Given the description of an element on the screen output the (x, y) to click on. 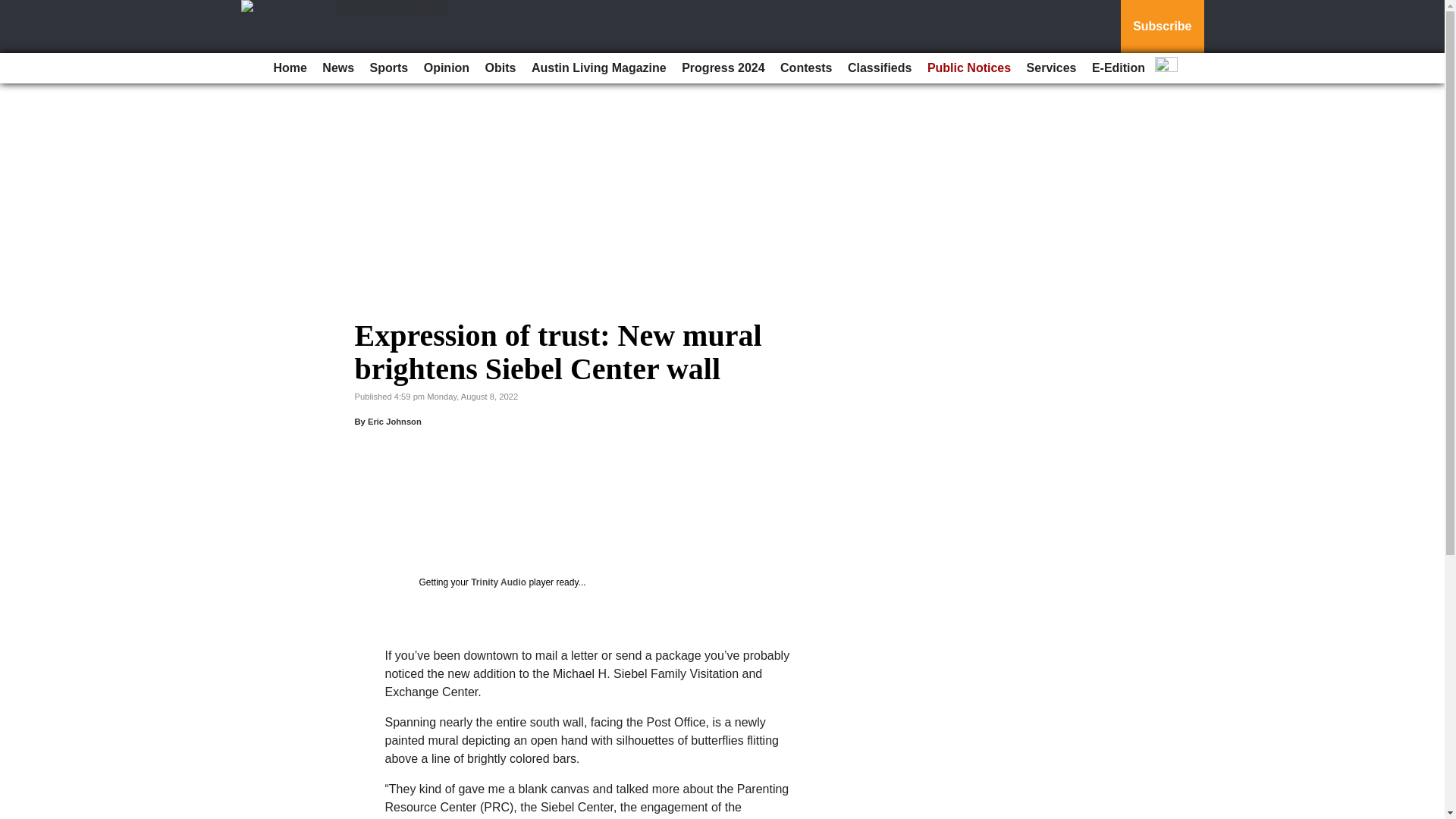
Home (289, 68)
Obits (500, 68)
Austin Living Magazine (598, 68)
News (337, 68)
Classifieds (879, 68)
Public Notices (968, 68)
Progress 2024 (722, 68)
Opinion (446, 68)
Contests (806, 68)
Subscribe (1162, 26)
